Given the description of an element on the screen output the (x, y) to click on. 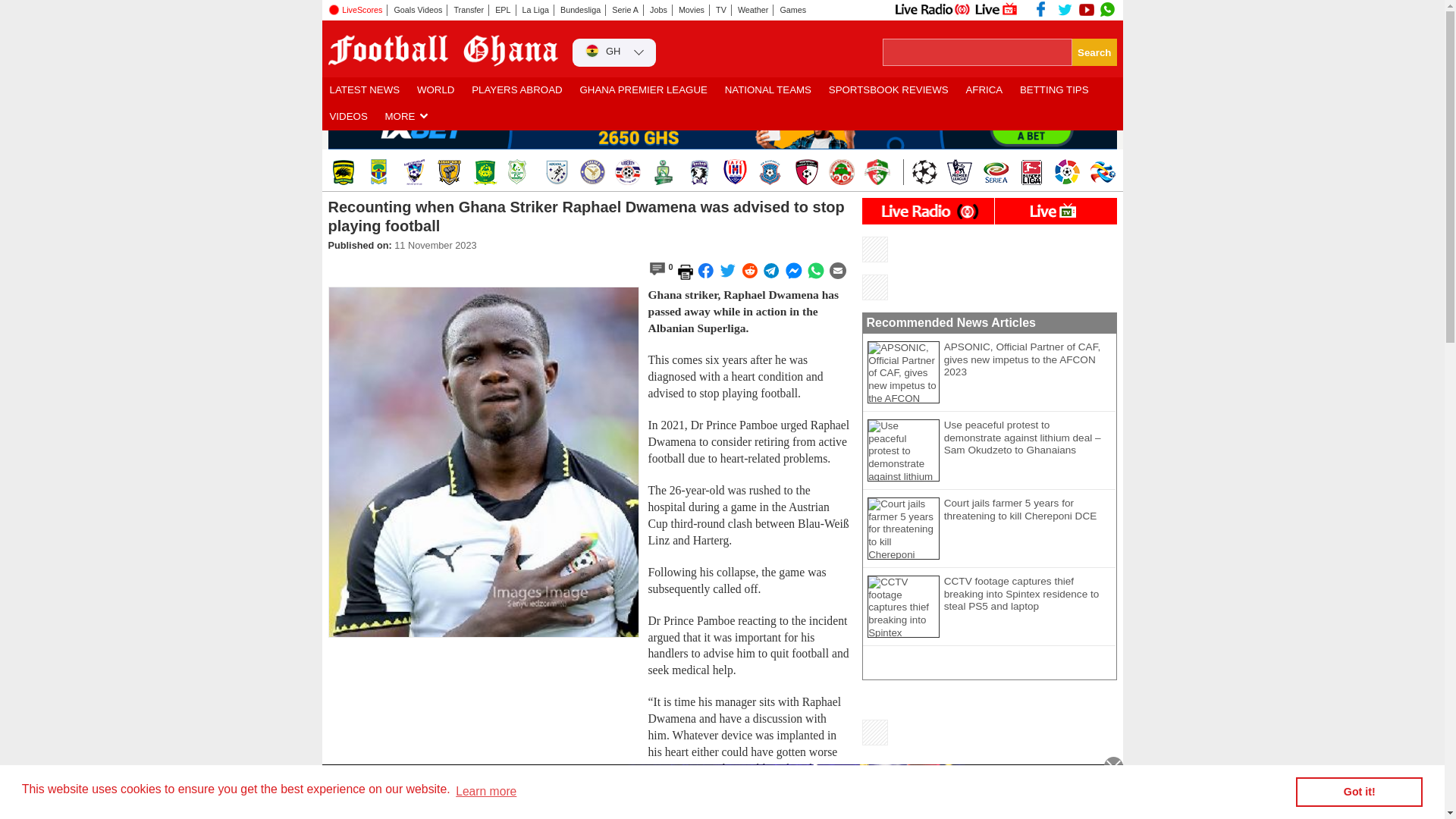
Live Radio (931, 9)
Liberty Professionals (627, 171)
Kumasi Asante Kotoko (342, 171)
Learn more (485, 791)
Serie A (625, 9)
Jobs (658, 9)
Games (793, 9)
AshantiGold (449, 171)
Accra Hearts of Oak (378, 171)
Karela FC (876, 171)
Techiman Wonders (840, 171)
Berekum Chelsea (592, 171)
Got it! (1358, 791)
La Liga (535, 9)
LATEST NEWS (363, 90)
